Given the description of an element on the screen output the (x, y) to click on. 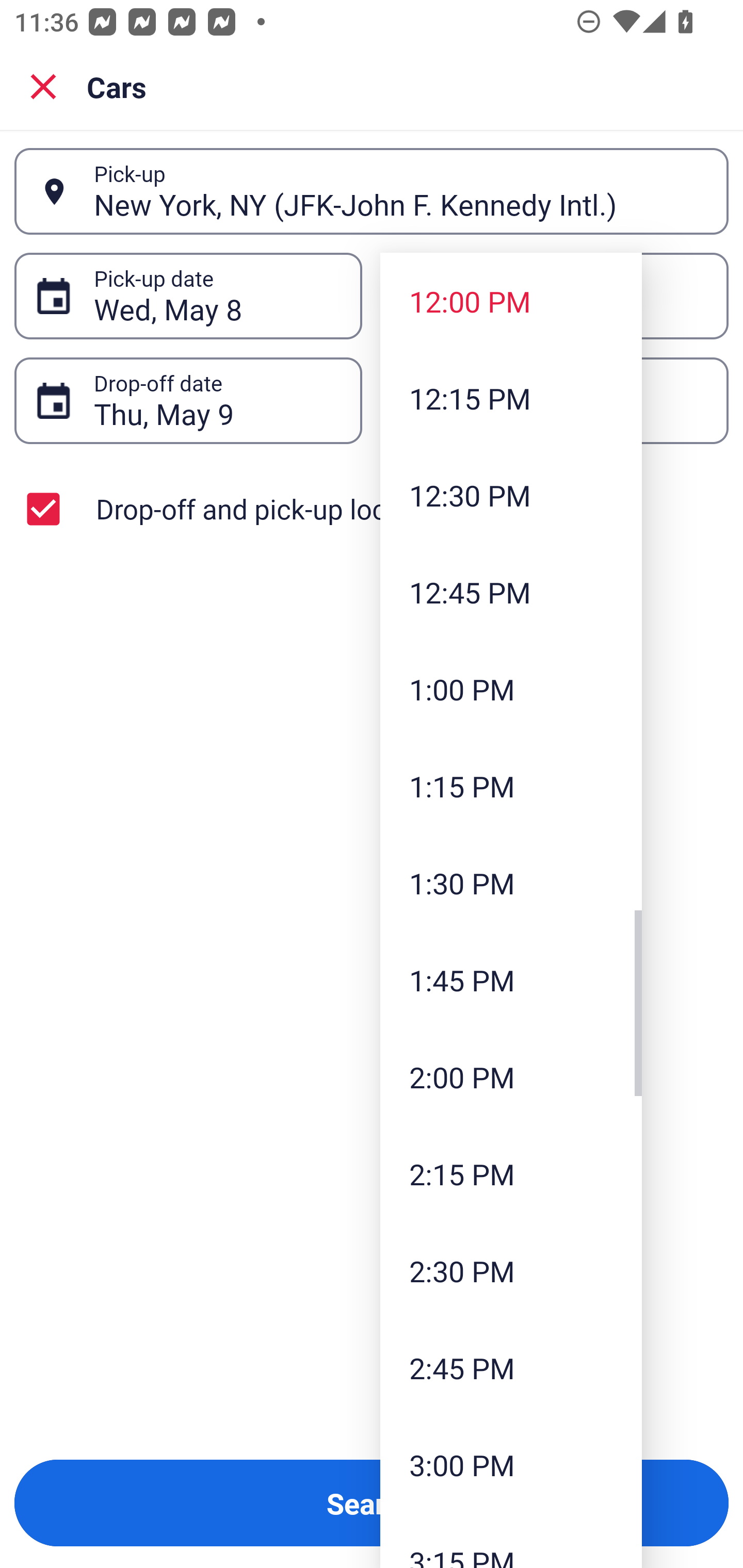
12:00 PM (510, 300)
12:15 PM (510, 397)
12:30 PM (510, 495)
12:45 PM (510, 592)
1:00 PM (510, 688)
1:15 PM (510, 785)
1:30 PM (510, 882)
1:45 PM (510, 979)
2:00 PM (510, 1076)
2:15 PM (510, 1174)
2:30 PM (510, 1270)
2:45 PM (510, 1366)
3:00 PM (510, 1464)
